Given the description of an element on the screen output the (x, y) to click on. 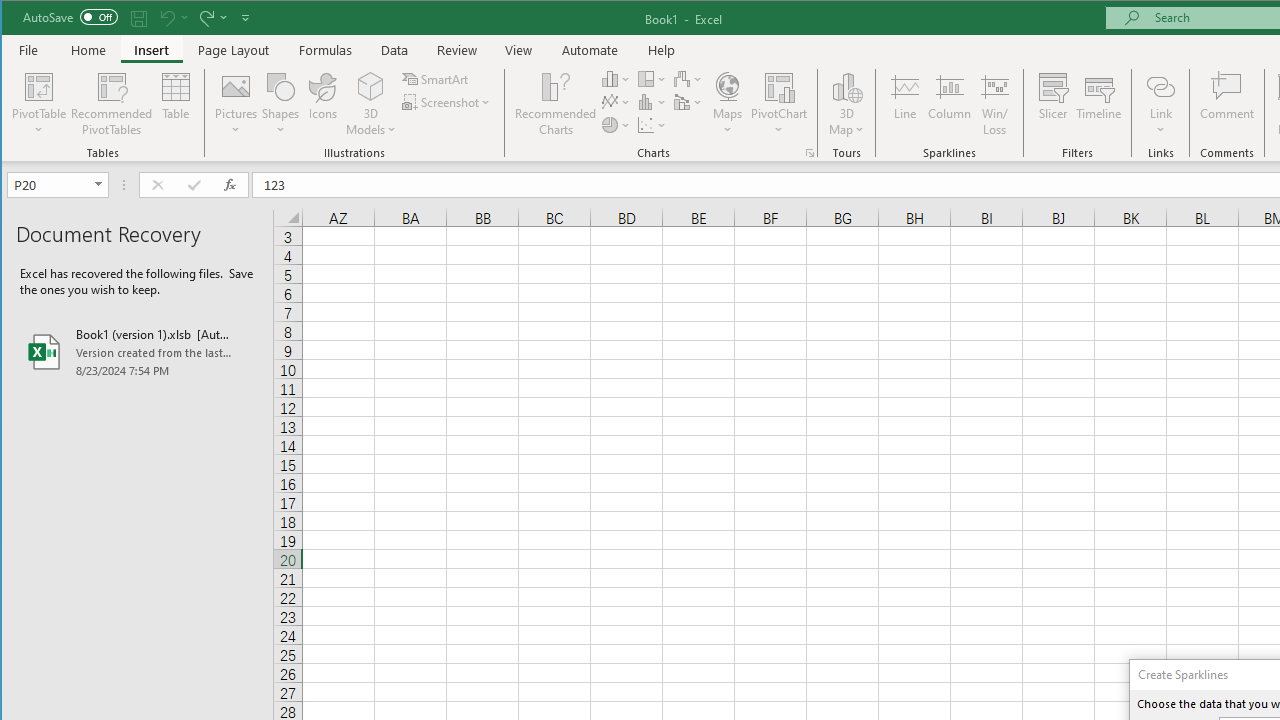
Shapes (280, 104)
Pictures (235, 104)
3D Map (846, 86)
Insert Waterfall, Funnel, Stock, Surface, or Radar Chart (688, 78)
Insert Column or Bar Chart (616, 78)
Comment (1227, 104)
Maps (727, 104)
